Given the description of an element on the screen output the (x, y) to click on. 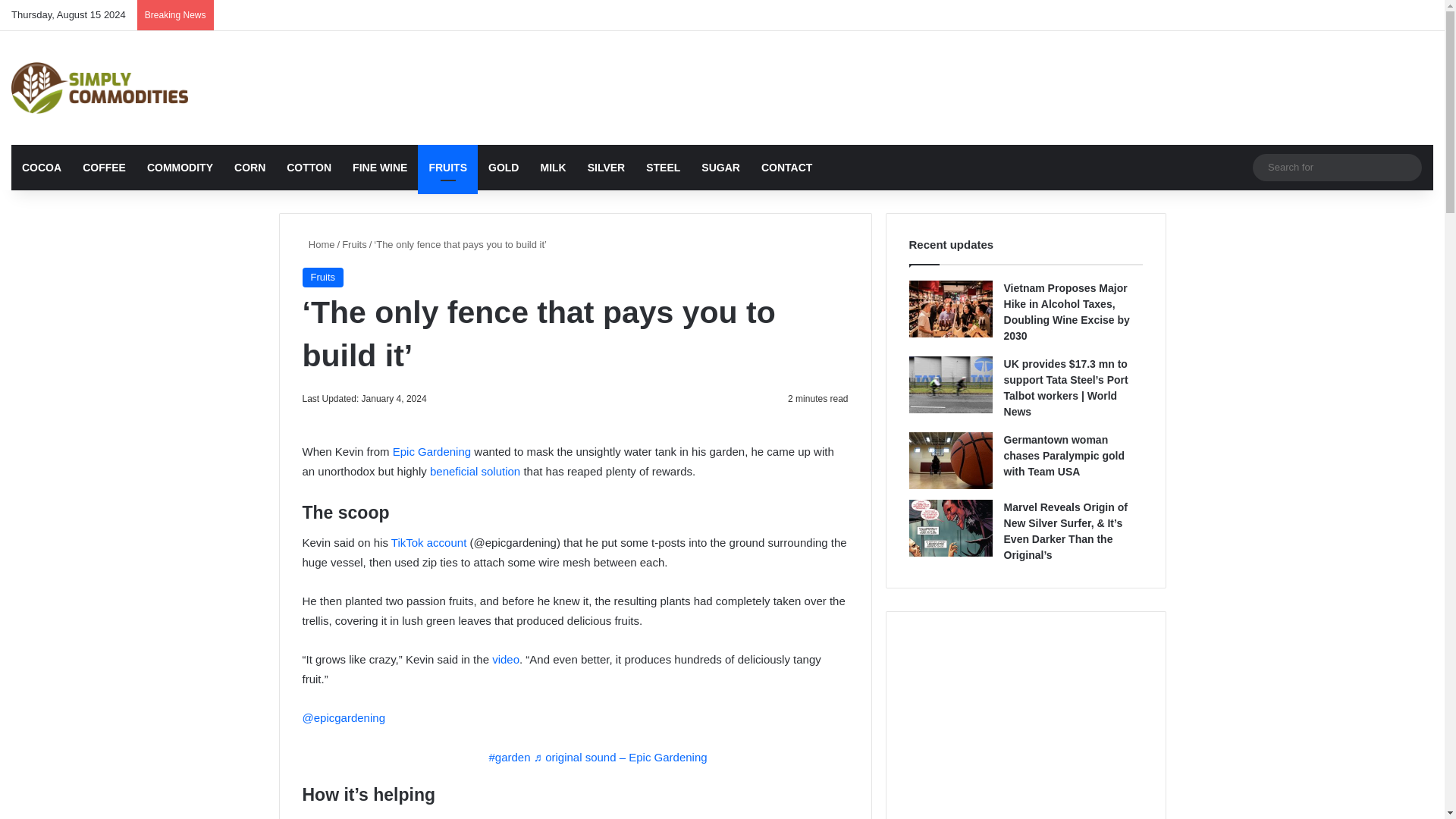
Search for (1337, 167)
FRUITS (447, 167)
beneficial solution (474, 471)
Home (317, 244)
GOLD (503, 167)
MILK (552, 167)
STEEL (662, 167)
Advertisement (963, 79)
Fruits (322, 277)
FINE WINE (379, 167)
